Given the description of an element on the screen output the (x, y) to click on. 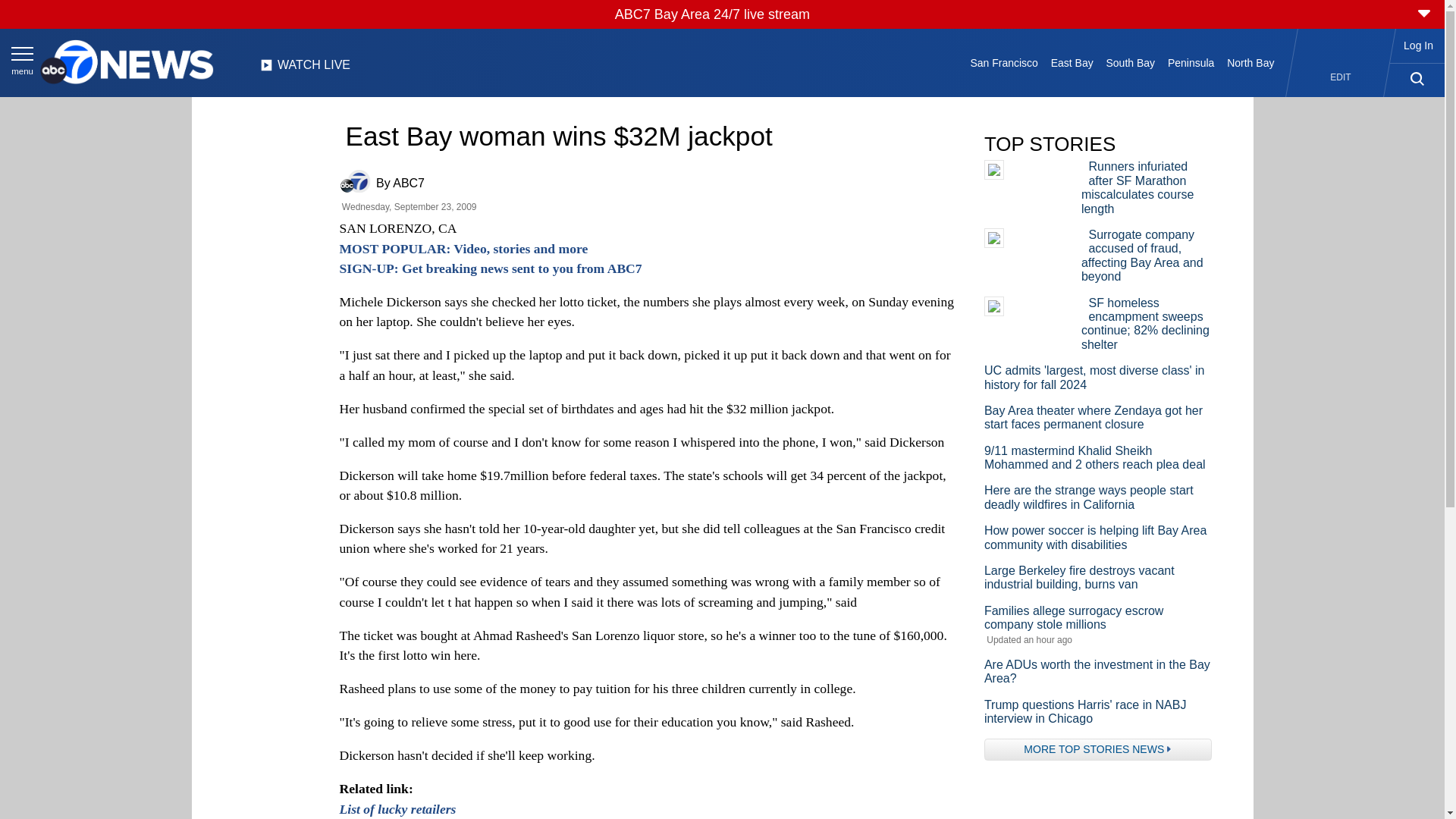
South Bay (1129, 62)
WATCH LIVE (305, 69)
Peninsula (1191, 62)
North Bay (1251, 62)
EDIT (1340, 77)
East Bay (1071, 62)
San Francisco (1003, 62)
